Given the description of an element on the screen output the (x, y) to click on. 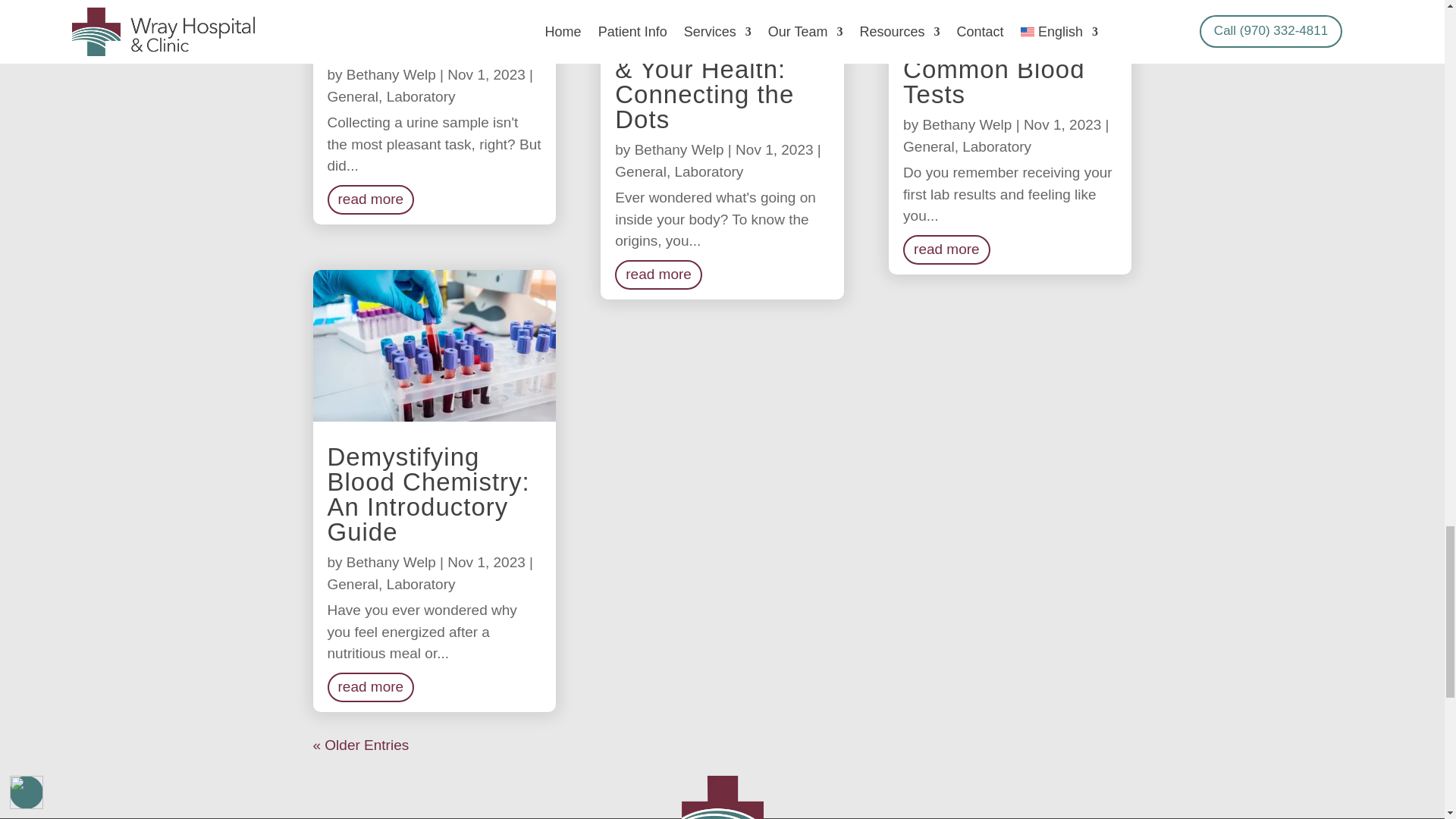
Posts by Bethany Welp (390, 562)
Posts by Bethany Welp (390, 74)
